Given the description of an element on the screen output the (x, y) to click on. 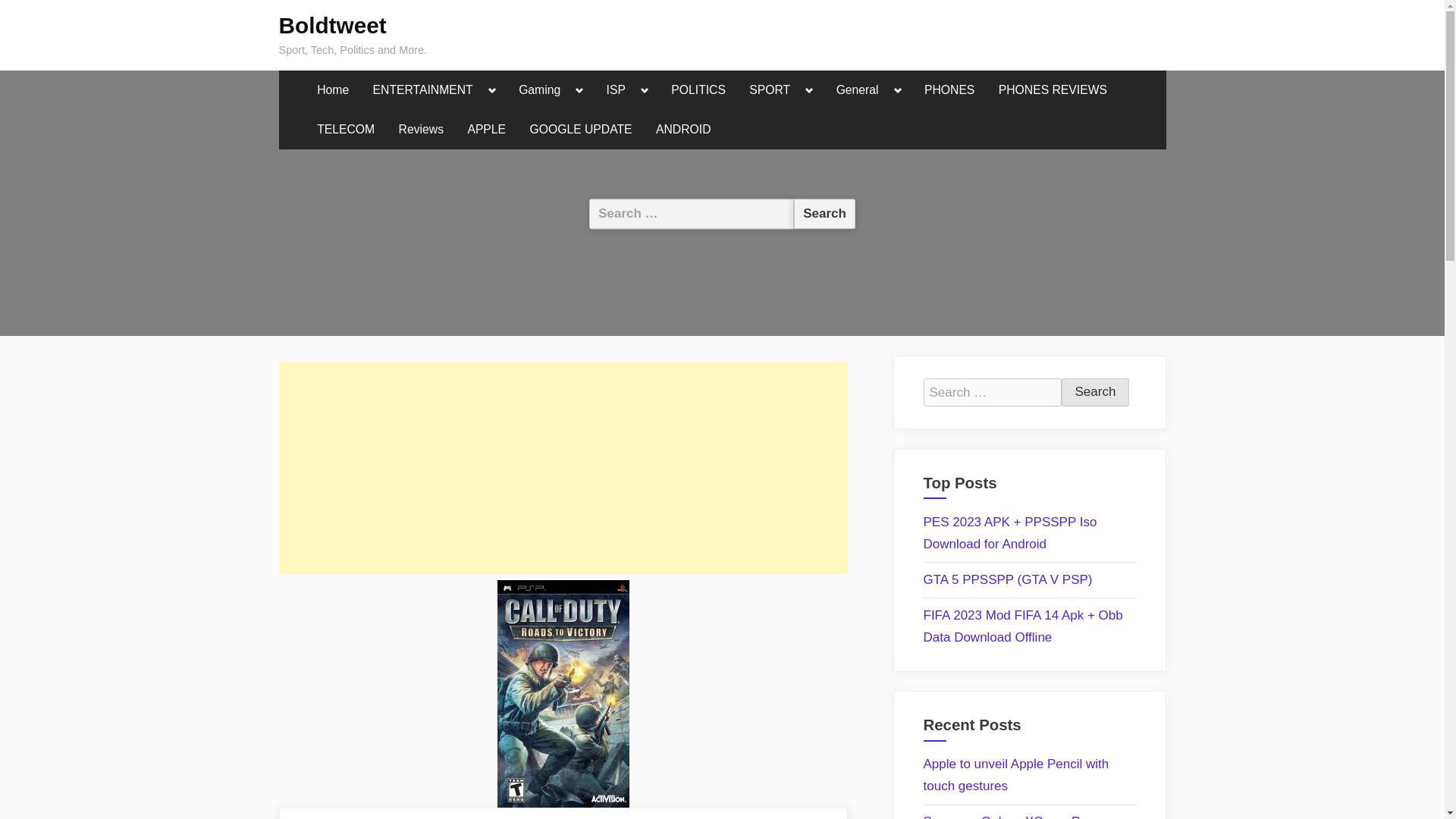
Boldtweet (333, 25)
Toggle sub-menu (897, 90)
ISP (615, 90)
ENTERTAINMENT (423, 90)
Search (1095, 392)
Advertisement (563, 467)
Search (1095, 392)
Toggle sub-menu (644, 90)
Home (332, 90)
Gaming (540, 90)
POLITICS (697, 90)
Toggle sub-menu (580, 90)
Search (824, 214)
General (857, 90)
SPORT (769, 90)
